Given the description of an element on the screen output the (x, y) to click on. 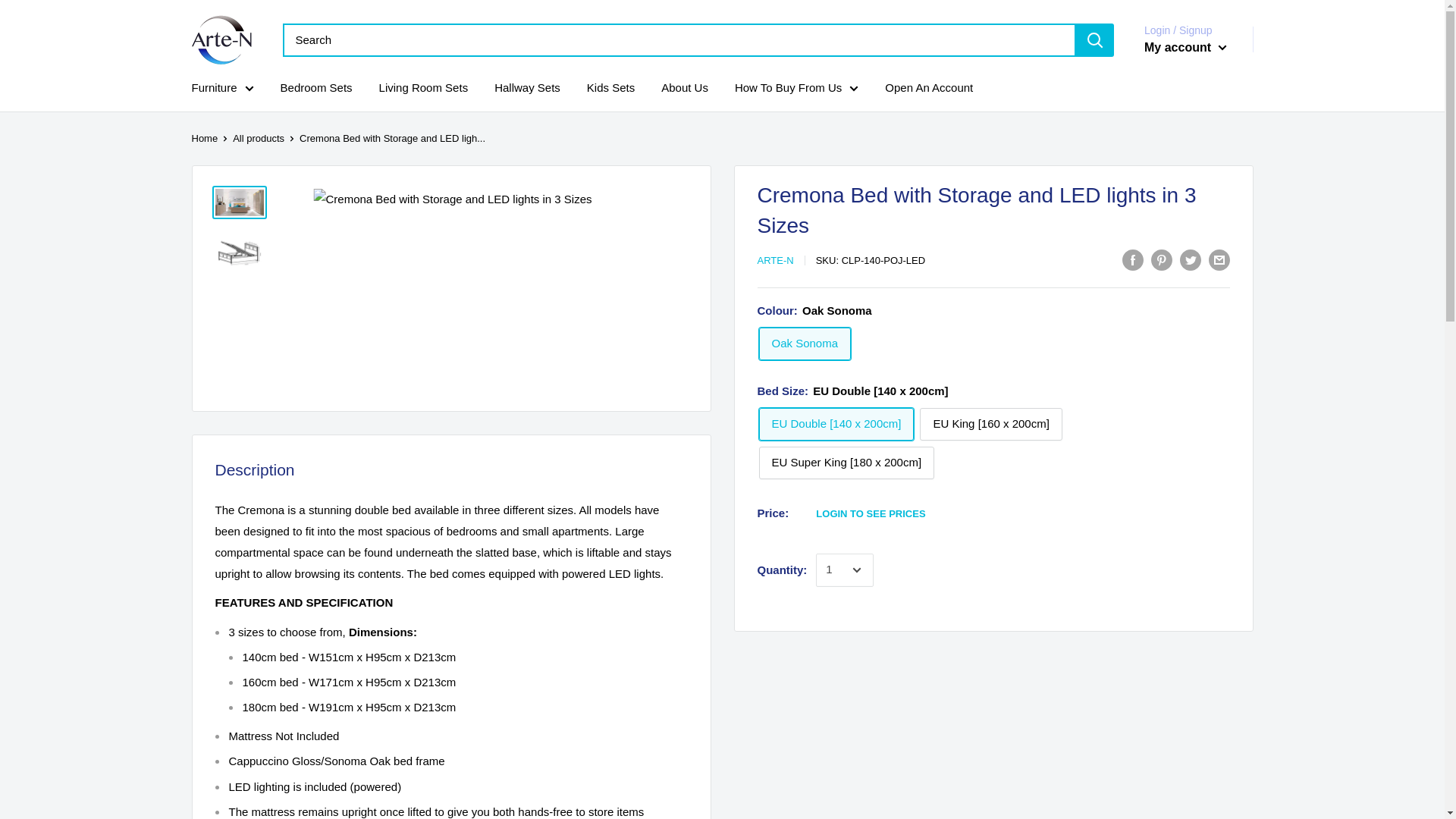
Oak Sonoma (804, 343)
